Given the description of an element on the screen output the (x, y) to click on. 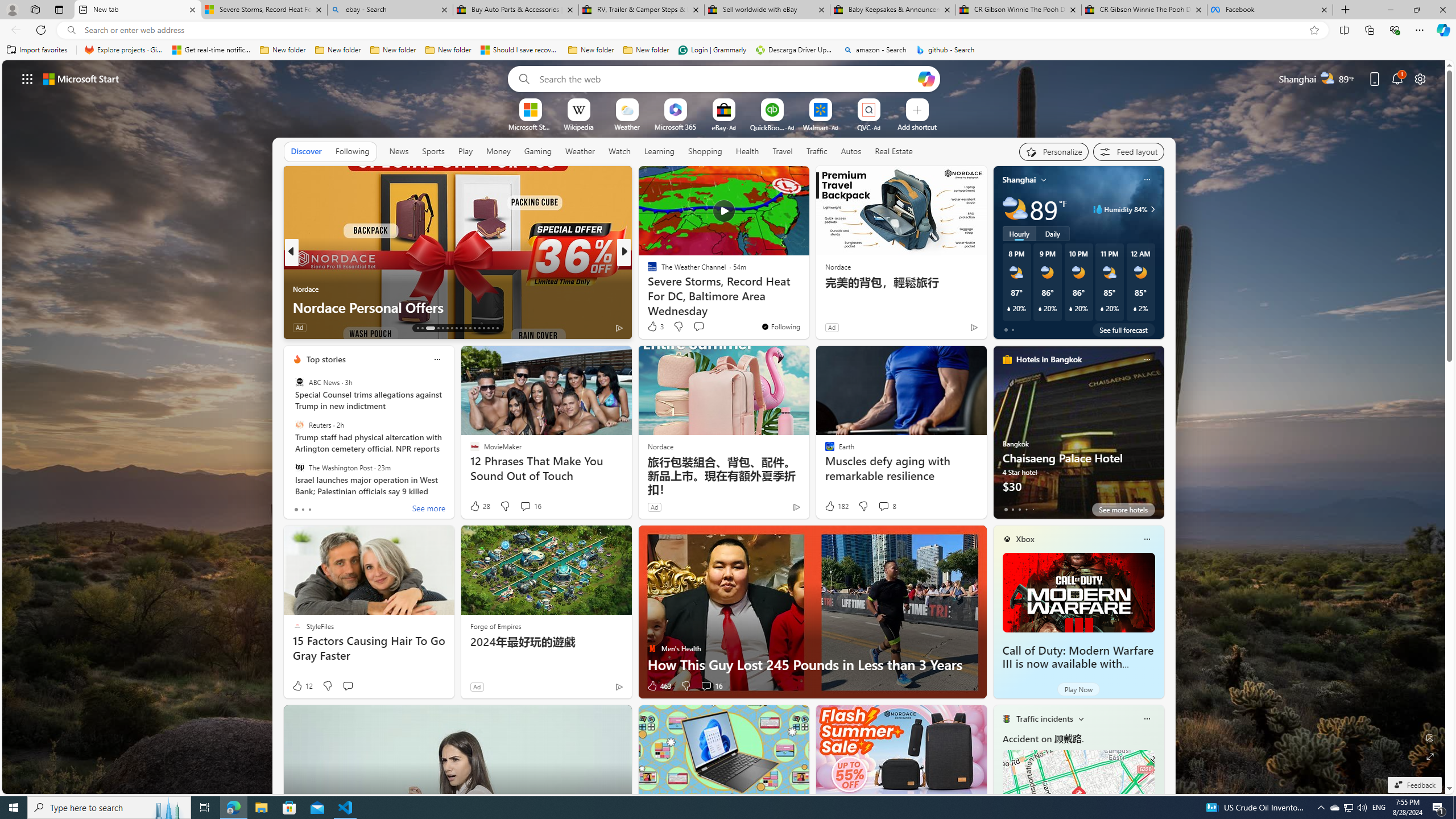
AutomationID: tab-22 (465, 328)
Daily (1052, 233)
The Washington Post (299, 466)
Shanghai (1018, 179)
AutomationID: tab-27 (488, 328)
